Given the description of an element on the screen output the (x, y) to click on. 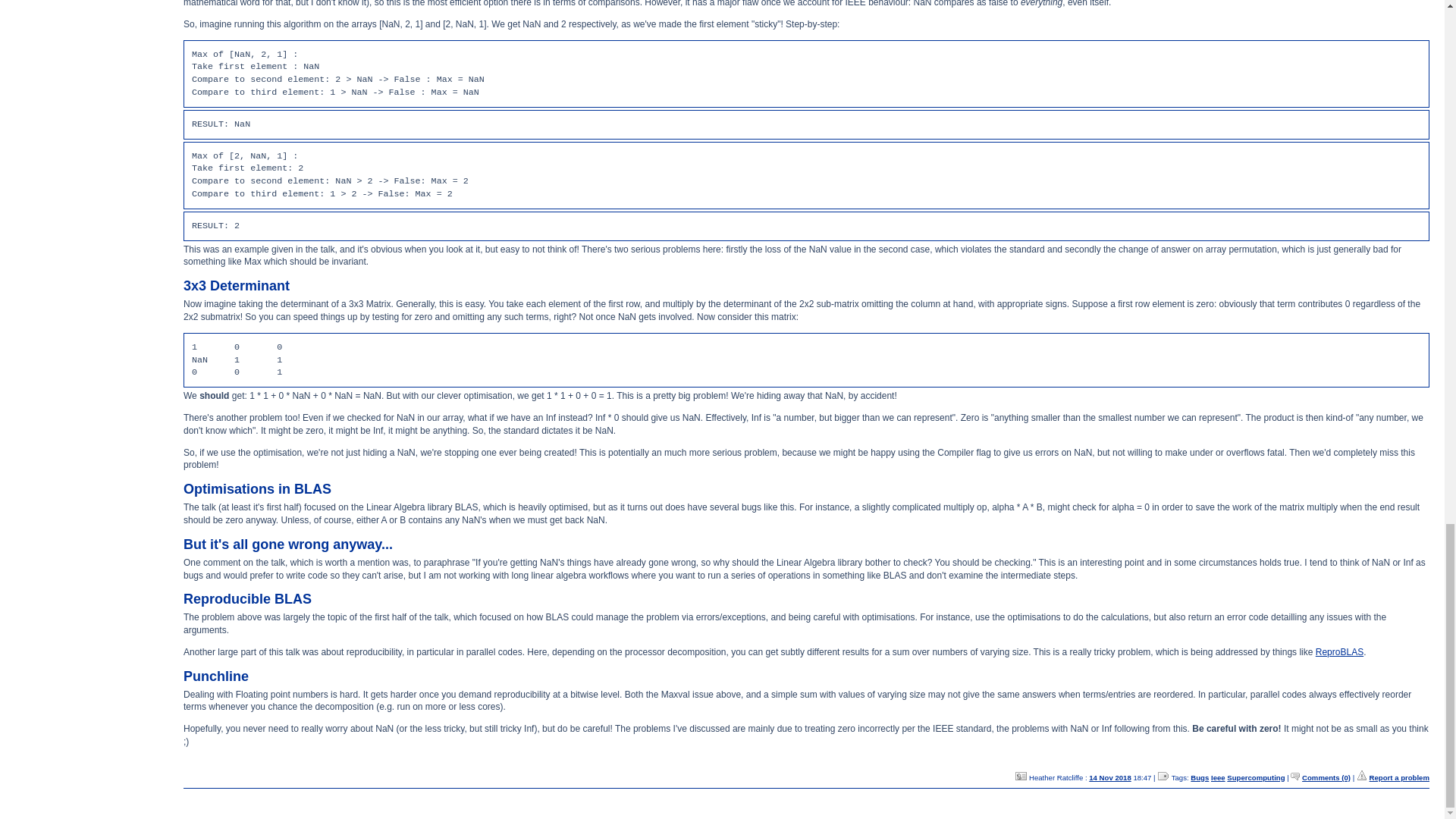
Bugs (1199, 777)
Supercomputing (1255, 777)
14 Nov 2018 (1110, 777)
Read all entries written on this date (1110, 777)
ReproBLAS (1339, 652)
Report a problem (1399, 777)
Ieee (1218, 777)
Staff: Research Technology Platforms (1020, 776)
Read or add comments (1326, 777)
